Given the description of an element on the screen output the (x, y) to click on. 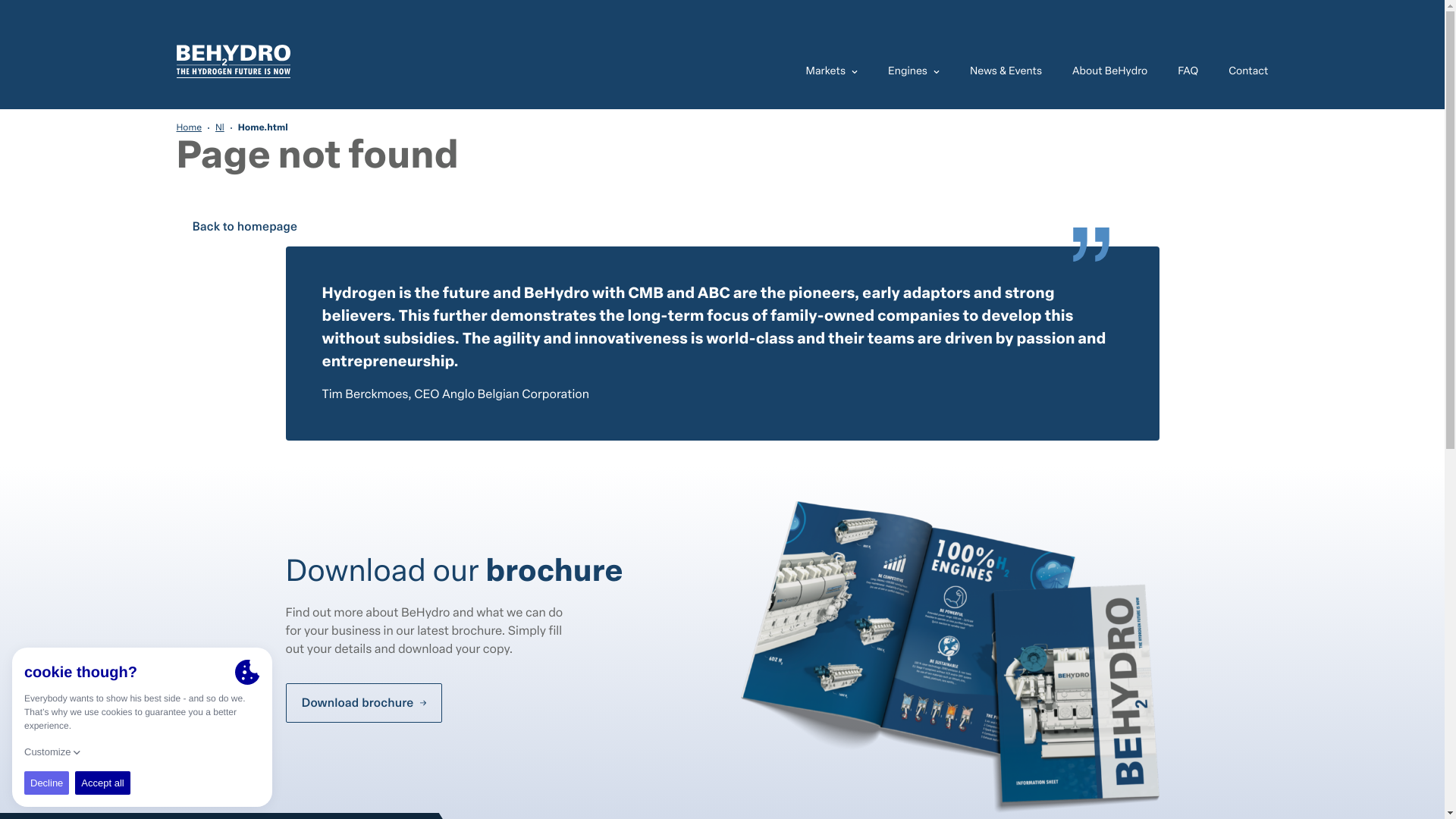
Contact Element type: text (1240, 64)
FAQ Element type: text (1187, 64)
Engines Element type: text (913, 64)
Markets Element type: text (839, 64)
en Element type: hover (232, 61)
Download brochure Element type: text (363, 702)
About BeHydro Element type: text (1109, 64)
Home Element type: text (187, 127)
News & Events Element type: text (1005, 64)
Nl Element type: text (219, 127)
Back to homepage Element type: text (244, 225)
